Given the description of an element on the screen output the (x, y) to click on. 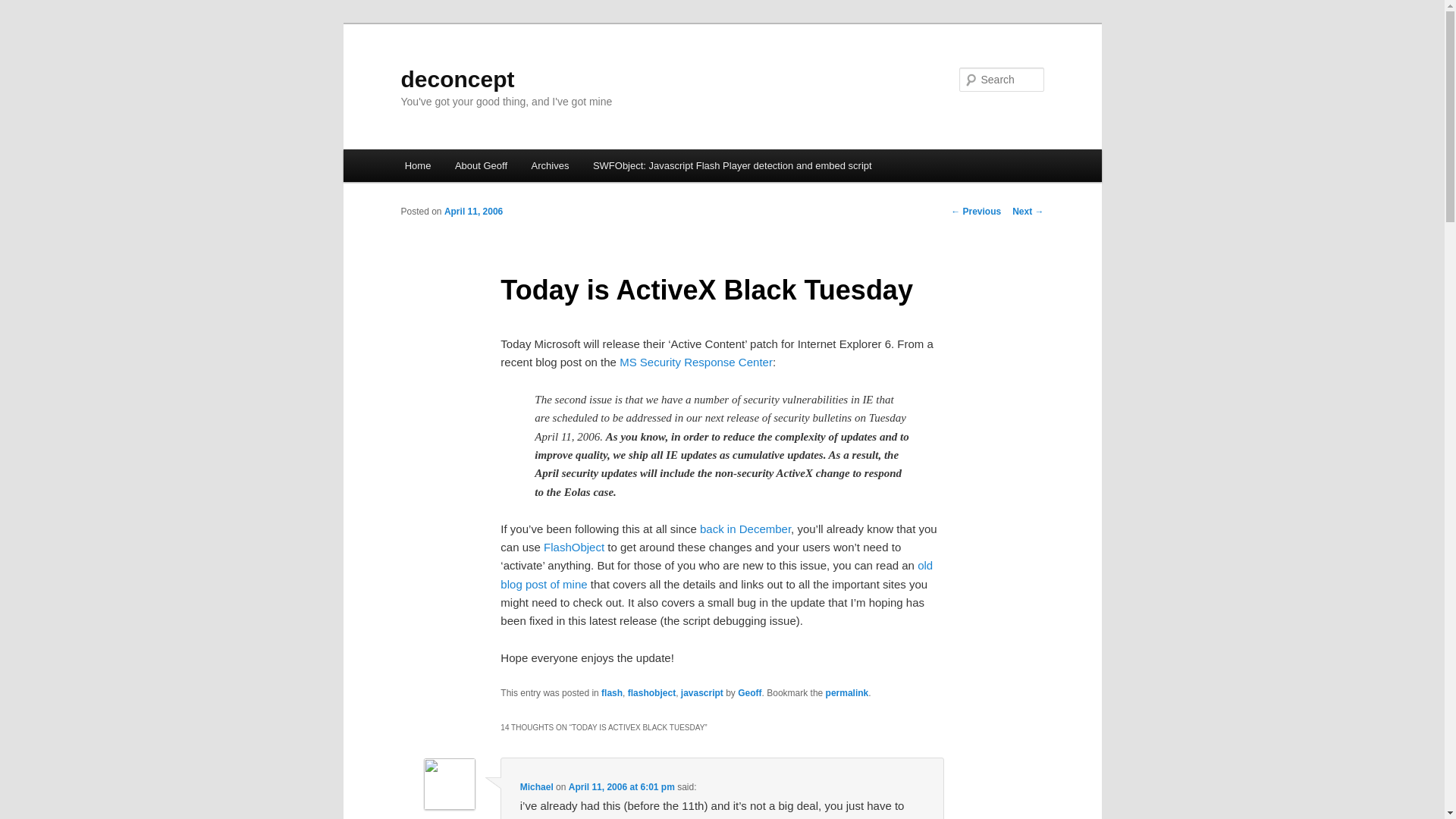
9:46 am (473, 211)
Search (24, 8)
flashobject (651, 692)
Michael (536, 787)
javascript (702, 692)
Home (417, 165)
Skip to secondary content (479, 168)
Geoff (749, 692)
April 11, 2006 (473, 211)
old blog post of mine (716, 573)
Skip to primary content (472, 168)
permalink (847, 692)
deconcept (456, 78)
Skip to primary content (472, 168)
